Given the description of an element on the screen output the (x, y) to click on. 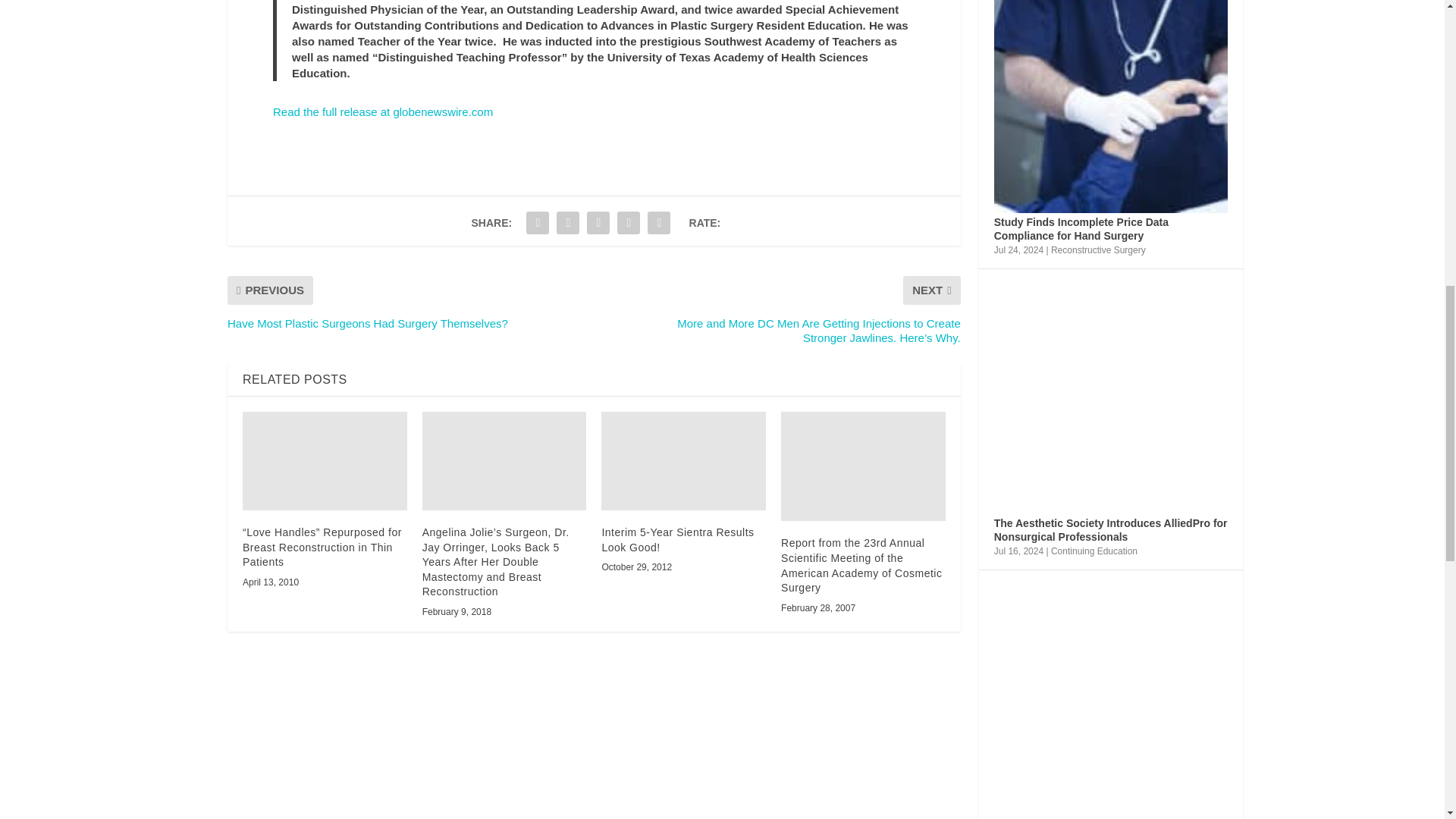
Read the full release at globenewswire.com (383, 111)
Interim 5-Year Sientra Results Look Good! (683, 460)
